Given the description of an element on the screen output the (x, y) to click on. 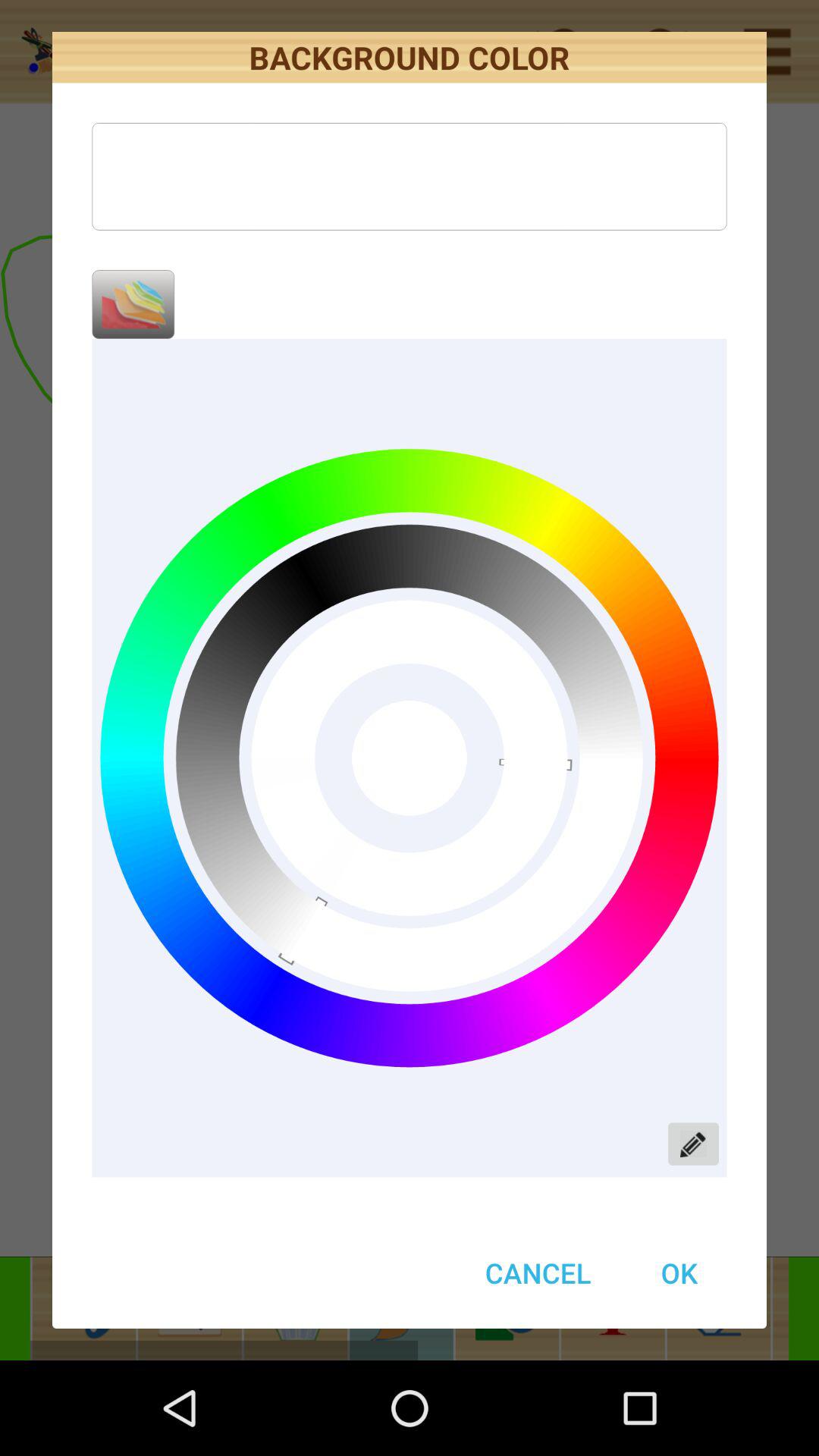
turn on button to the right of the cancel item (678, 1272)
